Given the description of an element on the screen output the (x, y) to click on. 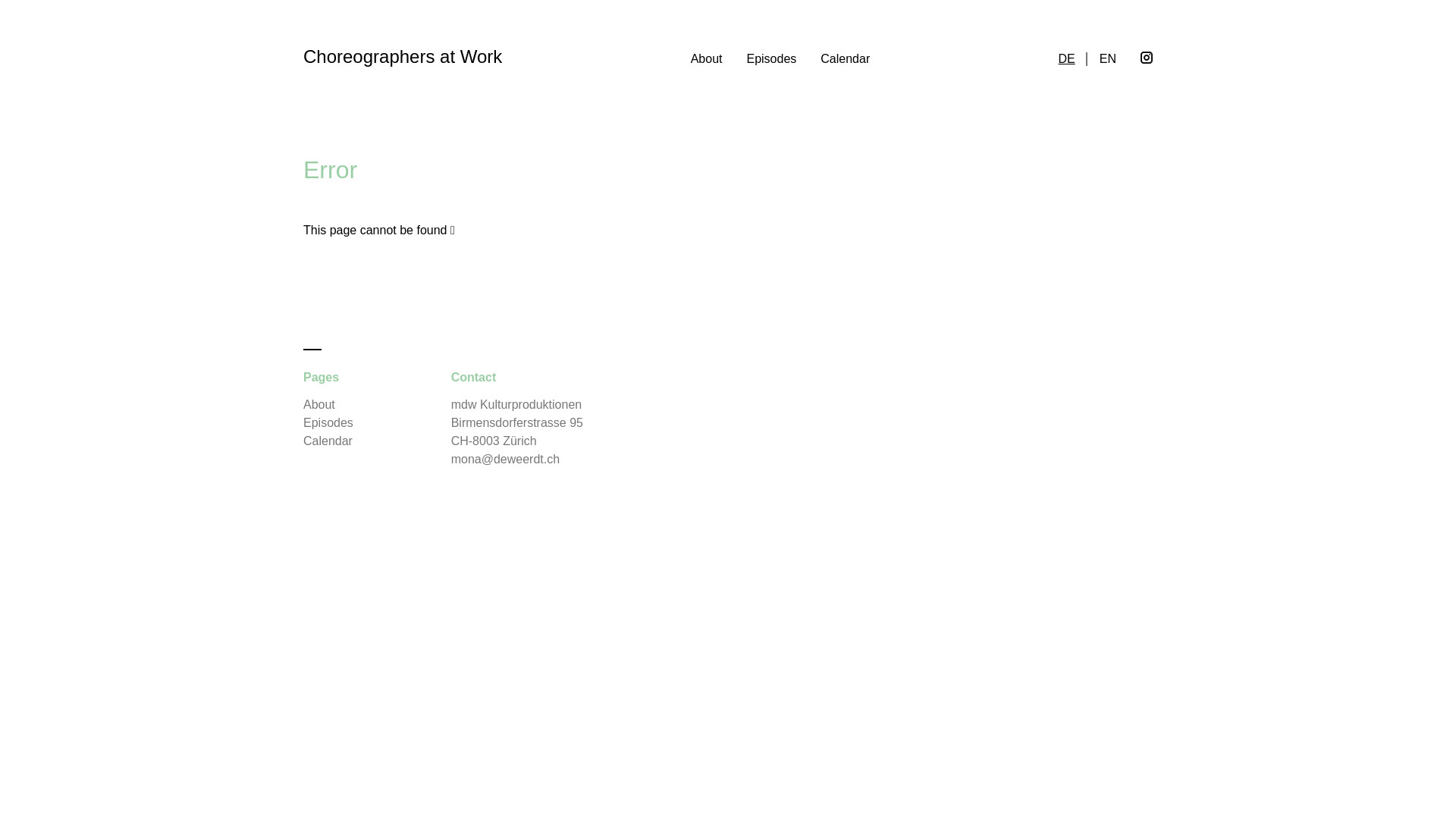
About Element type: text (706, 59)
Episodes Element type: text (771, 59)
Choreographers at Work Element type: text (402, 56)
Episodes Element type: text (328, 422)
About Element type: text (319, 404)
Calendar Element type: text (327, 440)
EN Element type: text (1107, 58)
DE Element type: text (1066, 58)
Calendar Element type: text (844, 59)
mona@deweerdt.ch Element type: text (505, 458)
